Given the description of an element on the screen output the (x, y) to click on. 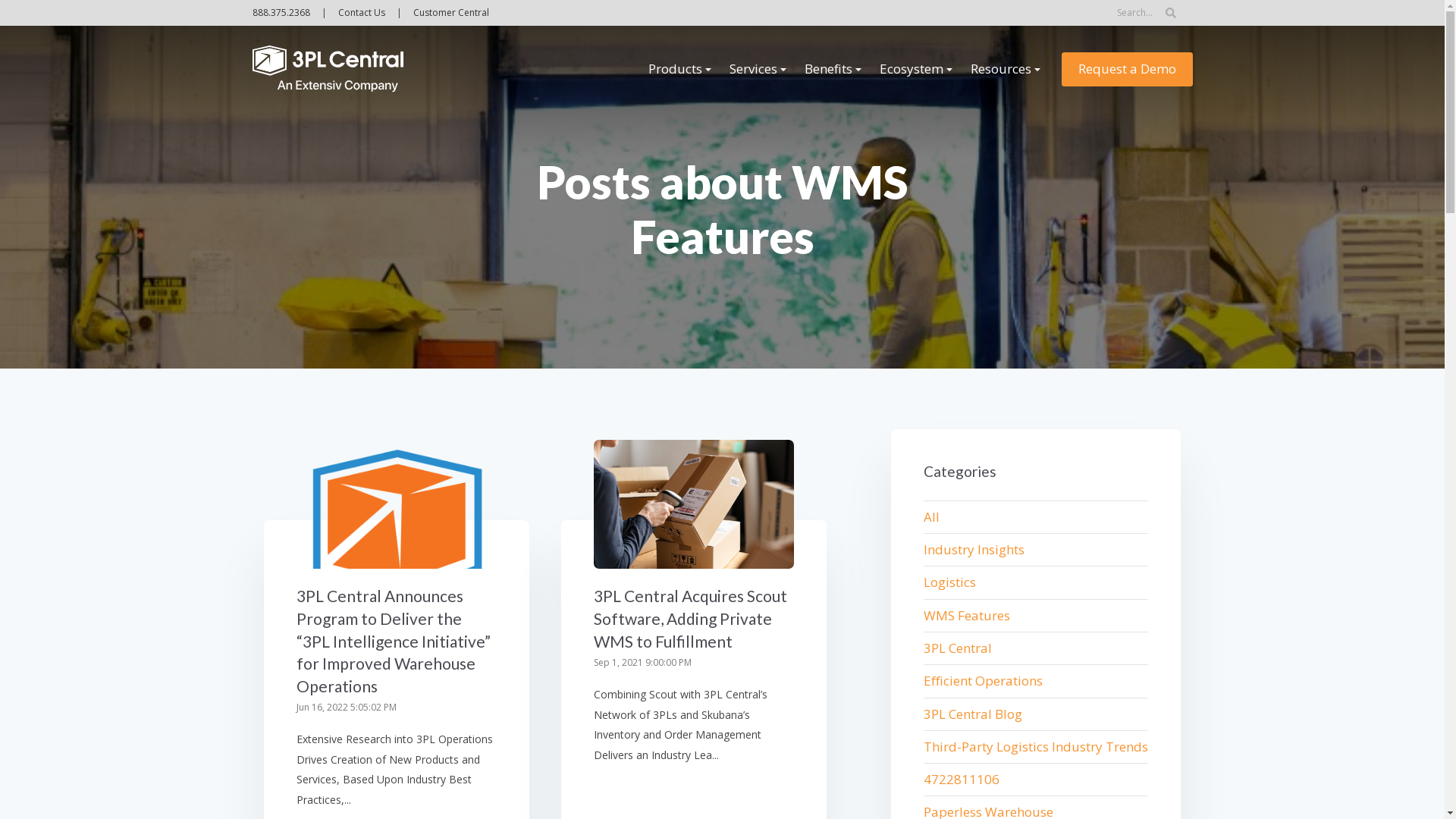
Services Element type: text (757, 68)
All Element type: text (1035, 517)
Ecosystem Element type: text (915, 68)
Industry Insights Element type: text (1035, 549)
Third-Party Logistics Industry Trends Element type: text (1035, 746)
3PL Central Element type: text (1035, 648)
Products Element type: text (678, 68)
Benefits Element type: text (831, 68)
Efficient Operations Element type: text (1035, 680)
3PL Central Blog Element type: text (1035, 714)
888.375.2368 Element type: text (284, 12)
Customer Central Element type: text (450, 12)
Contact Us Element type: text (361, 12)
WMS Features Element type: text (1035, 615)
4722811106 Element type: text (1035, 779)
Resources Element type: text (1005, 68)
Logistics Element type: text (1035, 582)
Request a Demo Element type: text (1126, 69)
